Given the description of an element on the screen output the (x, y) to click on. 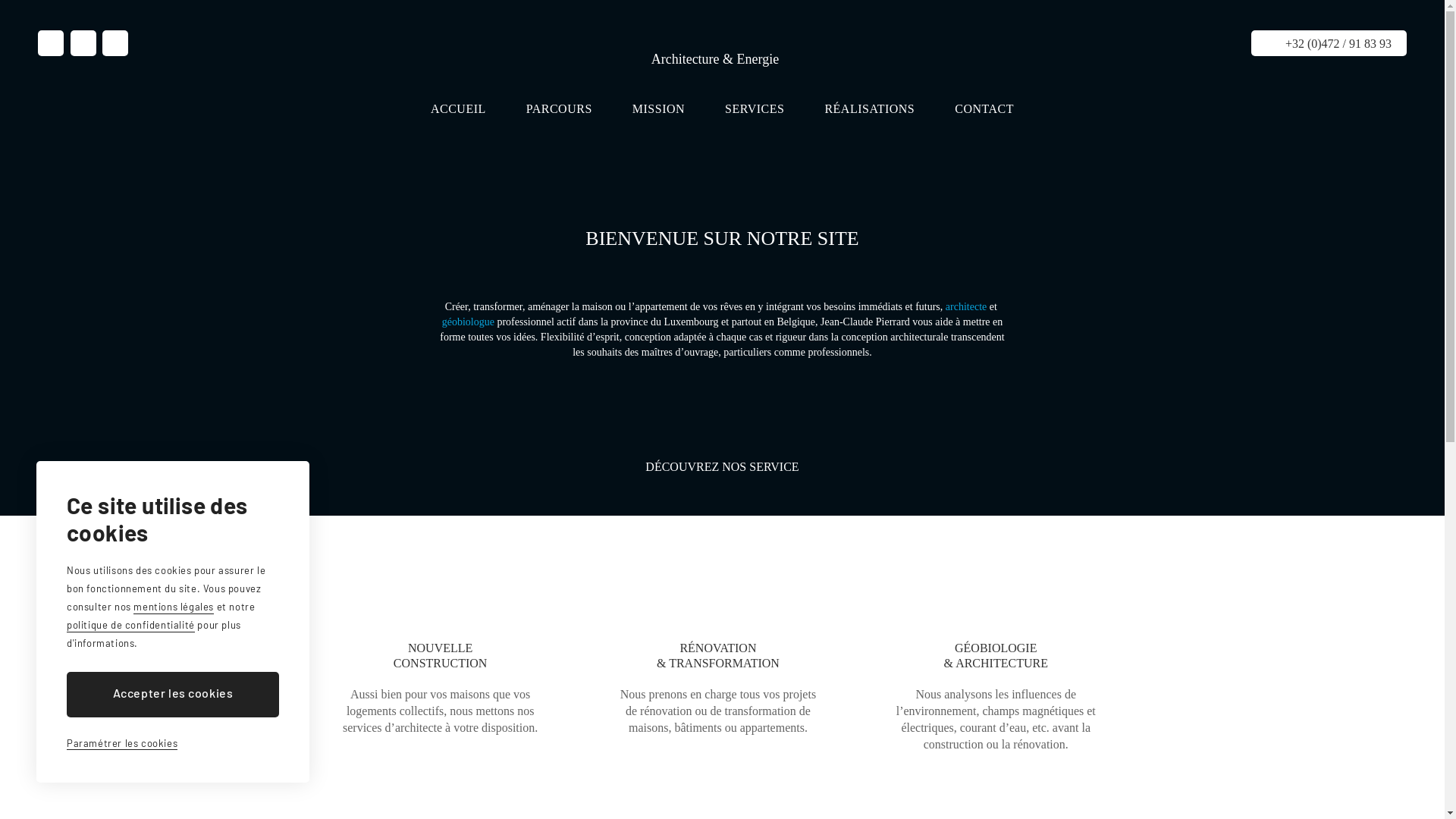
+32 (0)472 / 91 83 93 Element type: text (1328, 43)
Retrouver moi sur Facebook Element type: text (82, 43)
ACCUEIL Element type: text (458, 105)
CONTACT Element type: text (989, 105)
info@architecte-gaume.be Element type: text (115, 43)
PARCOURS Element type: text (558, 105)
Retrouver moi sur Google plus Element type: text (50, 43)
MISSION Element type: text (658, 105)
SERVICES Element type: text (754, 105)
Jean-Claude Pierrard
Architecture & Energie Element type: text (714, 45)
architecte Element type: text (965, 306)
